Given the description of an element on the screen output the (x, y) to click on. 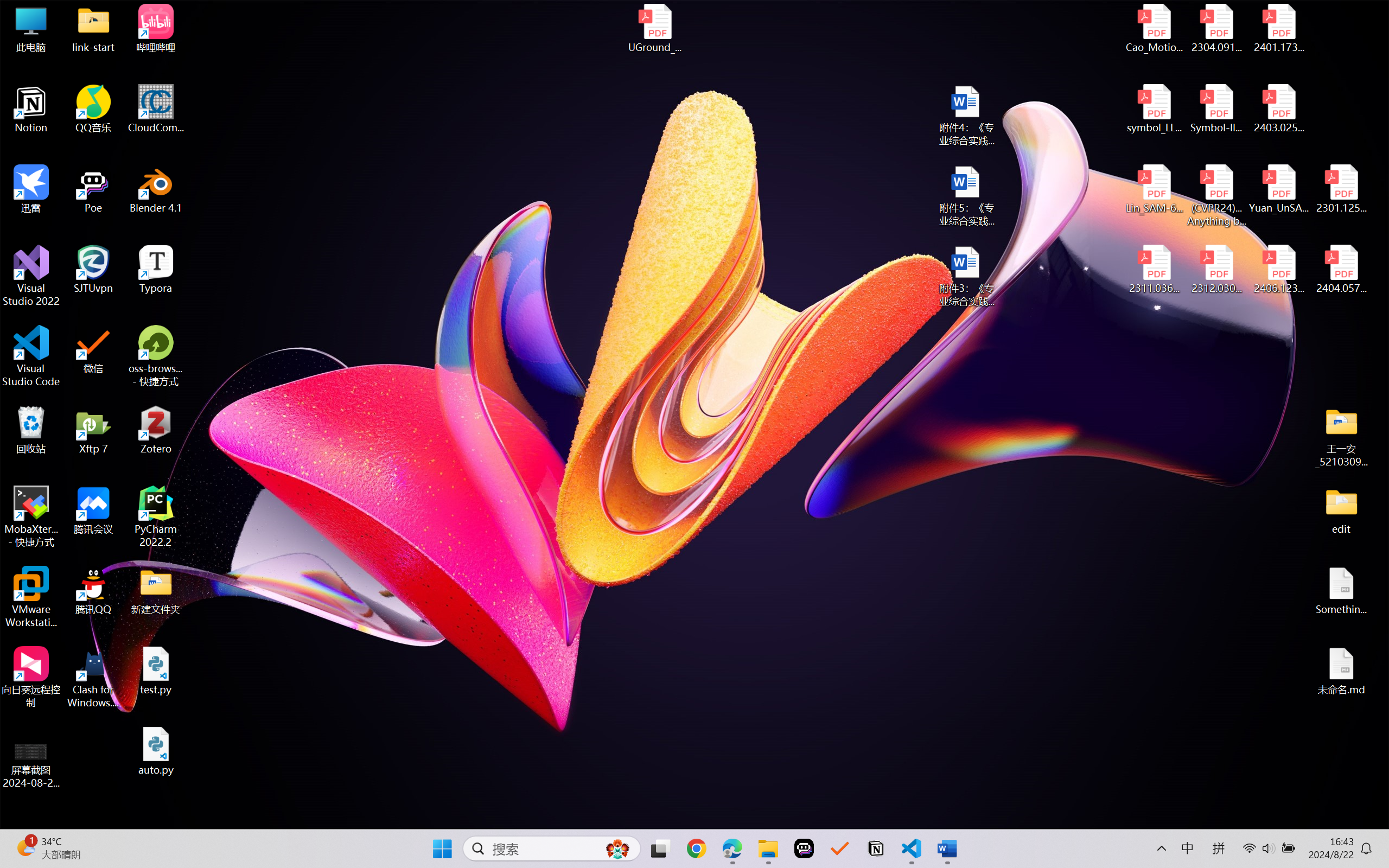
edit (1340, 510)
Something.md (1340, 591)
PyCharm 2022.2 (156, 516)
2404.05719v1.pdf (1340, 269)
Symbol-llm-v2.pdf (1216, 109)
Visual Studio Code (31, 355)
